Given the description of an element on the screen output the (x, y) to click on. 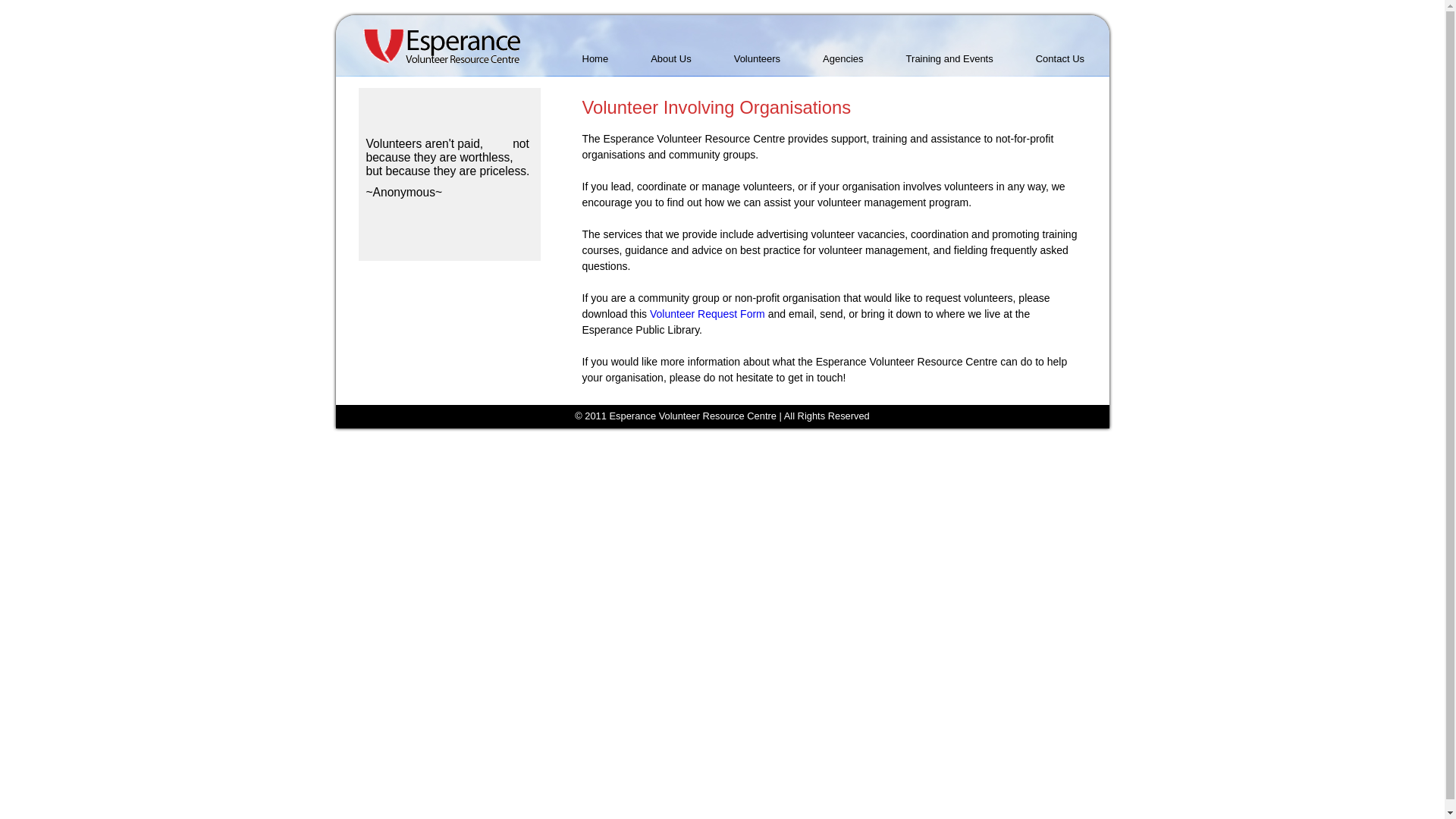
Volunteers Element type: text (757, 58)
Contact Us Element type: text (1059, 58)
About Us Element type: text (670, 58)
Agencies Element type: text (842, 58)
Training and Events Element type: text (949, 58)
Home Element type: text (595, 58)
Volunteer Request Form Element type: text (707, 313)
